Given the description of an element on the screen output the (x, y) to click on. 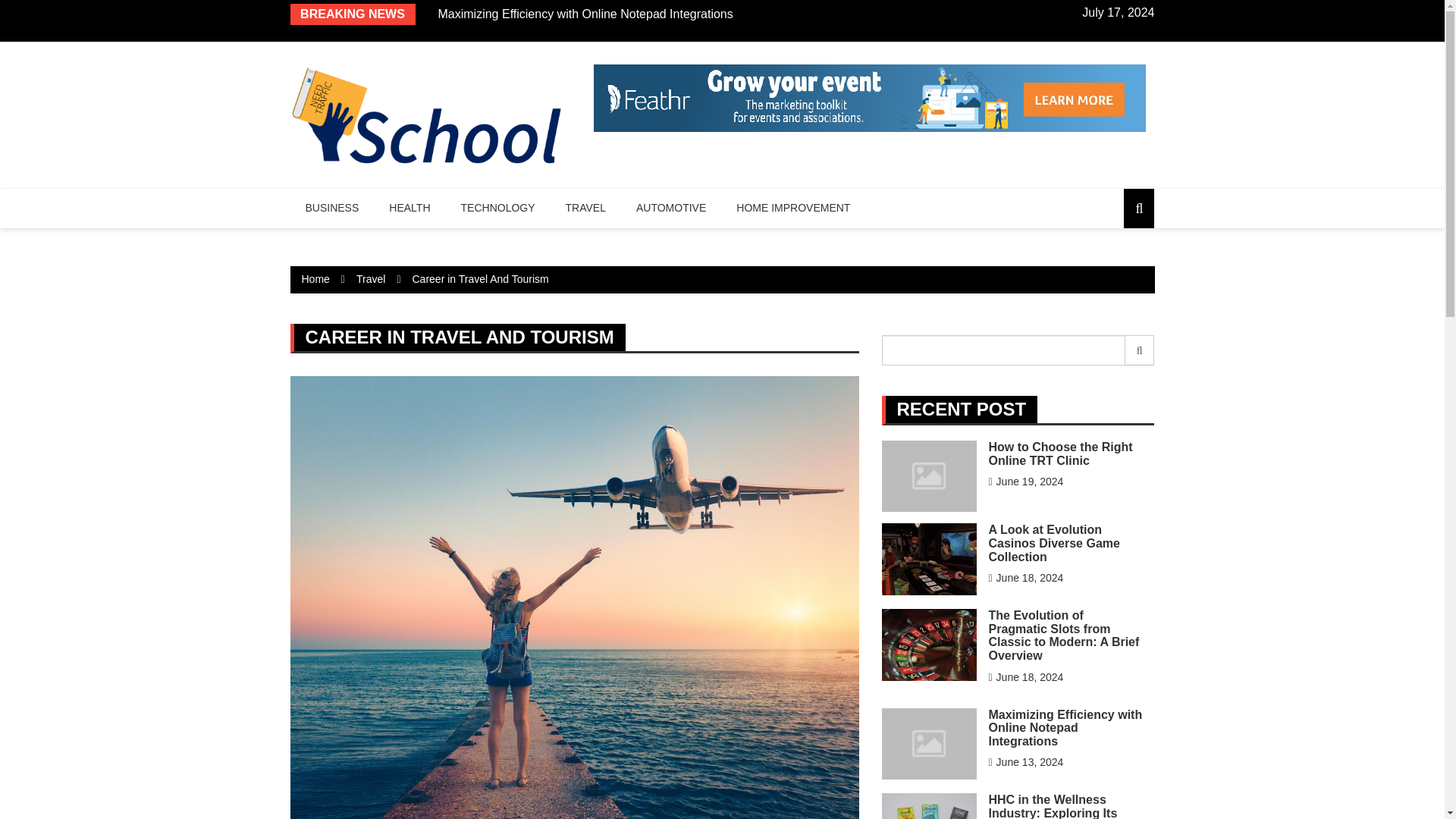
Career in Travel And Tourism (480, 278)
HOME IMPROVEMENT (792, 208)
TRAVEL (585, 208)
BUSINESS (331, 208)
June 19, 2024 (1025, 481)
Travel (370, 278)
How to Choose the Right Online TRT Clinic (1060, 453)
HEALTH (409, 208)
TECHNOLOGY (497, 208)
June 18, 2024 (1025, 676)
Search (1139, 349)
Maximizing Efficiency with Online Notepad Integrations (585, 13)
June 18, 2024 (1025, 577)
A Look at Evolution Casinos Diverse Game Collection (1053, 542)
